Given the description of an element on the screen output the (x, y) to click on. 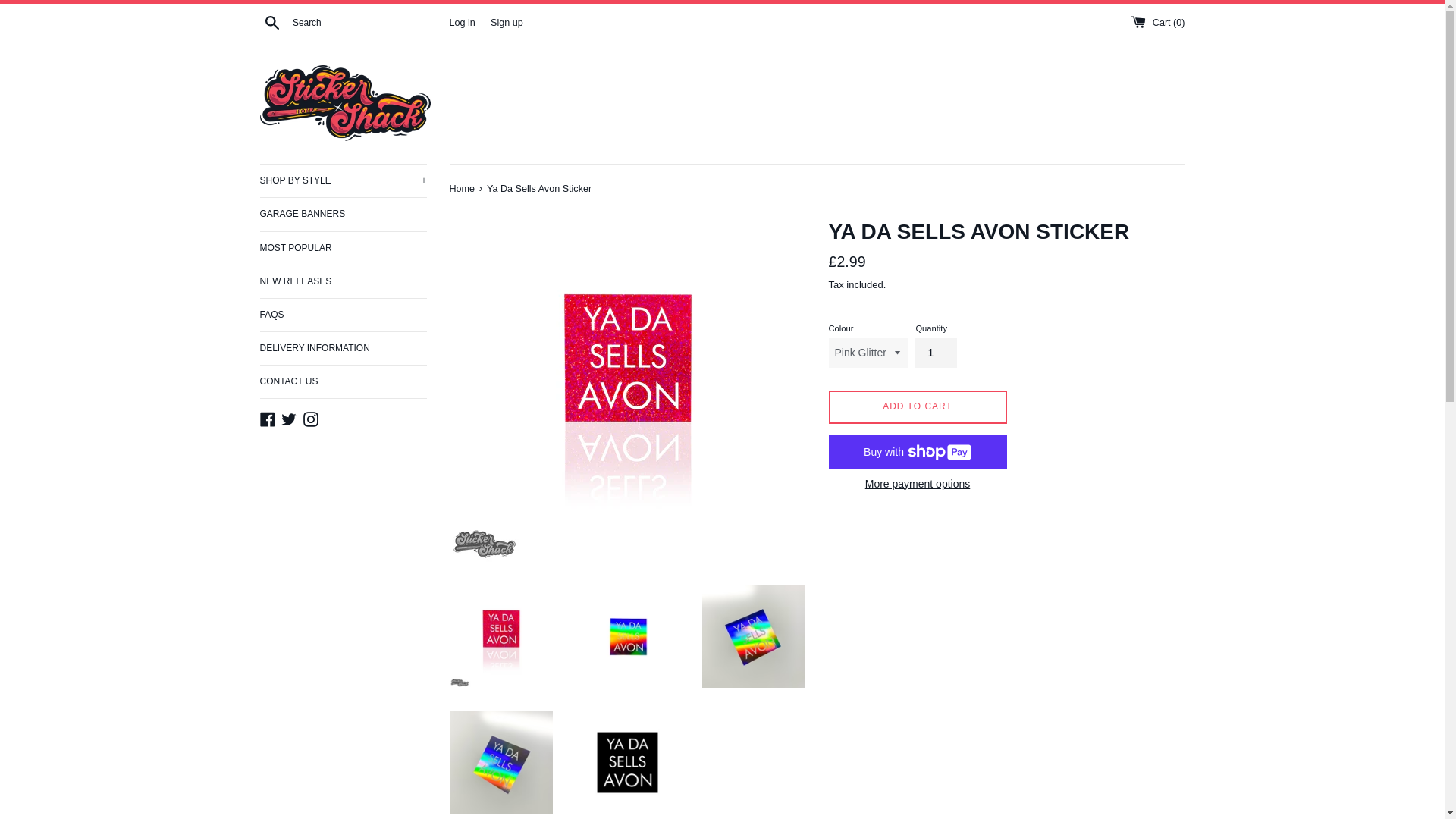
Sticker Shack on Facebook (267, 417)
Twitter (289, 417)
MOST POPULAR (342, 247)
Search (271, 21)
1 (935, 352)
Sticker Shack on Twitter (289, 417)
ADD TO CART (917, 407)
GARAGE BANNERS (342, 214)
Instagram (310, 417)
Sticker Shack on Instagram (310, 417)
